Given the description of an element on the screen output the (x, y) to click on. 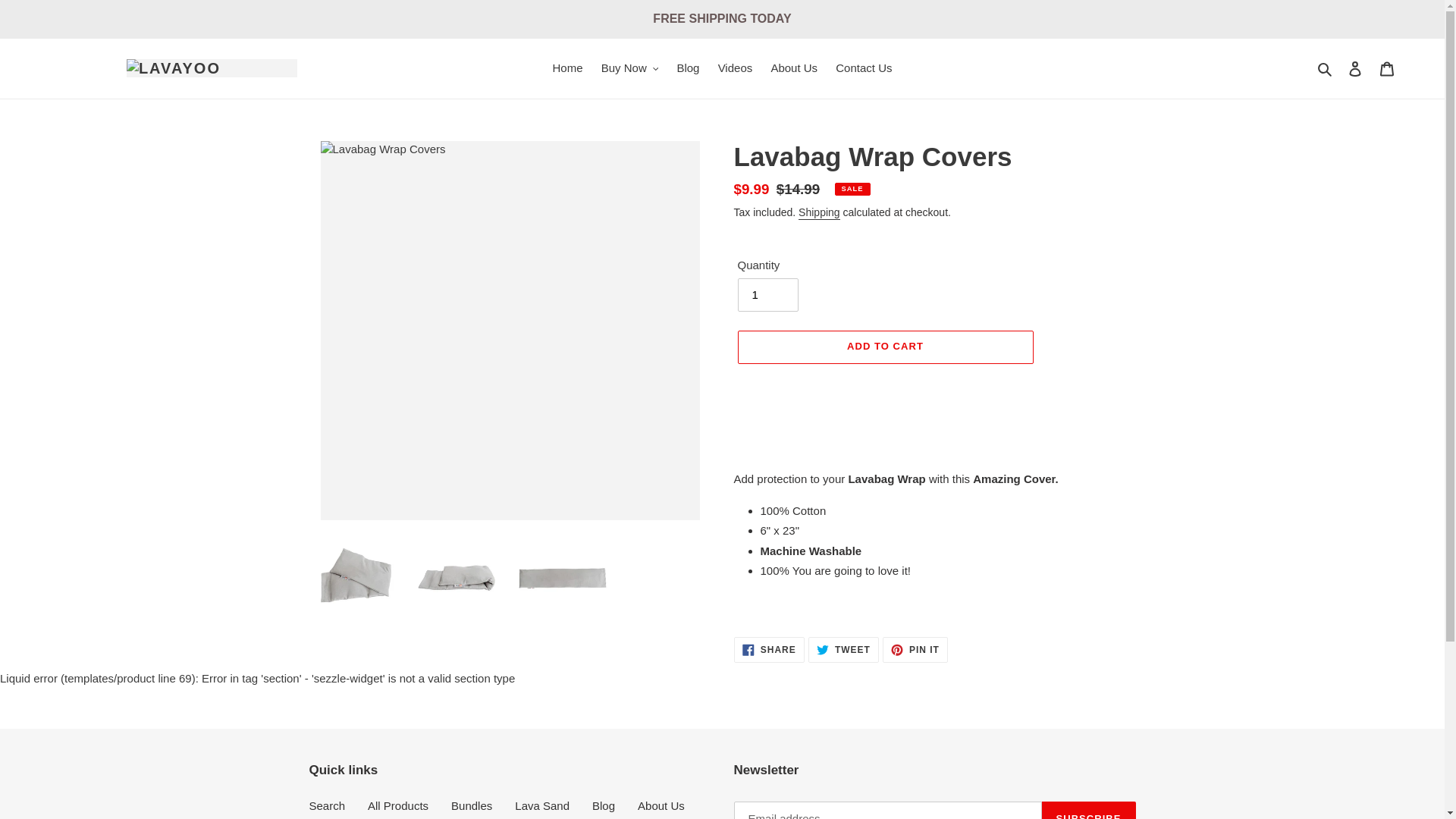
Home (567, 68)
Contact Us (863, 68)
Videos (735, 68)
Blog (687, 68)
Search (1326, 67)
About Us (793, 68)
Log in (1355, 68)
Shipping (818, 213)
Cart (1387, 68)
1 (766, 295)
ADD TO CART (884, 346)
Buy Now (630, 68)
